Given the description of an element on the screen output the (x, y) to click on. 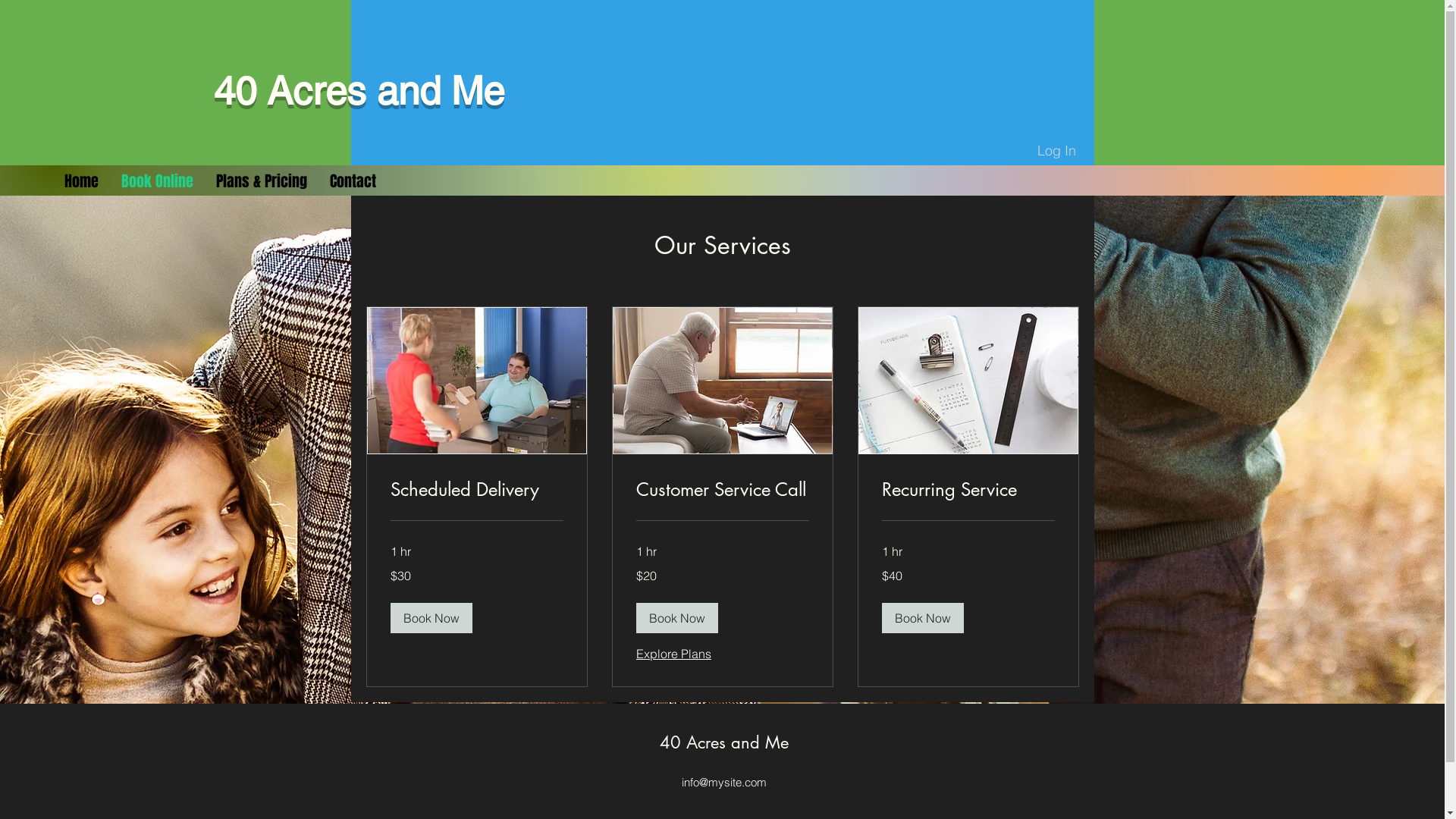
Scheduled Delivery Element type: text (475, 489)
Plans & Pricing Element type: text (261, 180)
Book Now Element type: text (430, 617)
Customer Service Call Element type: text (721, 489)
Contact Element type: text (352, 180)
Explore Plans Element type: text (672, 653)
Recurring Service Element type: text (967, 489)
Book Now Element type: text (922, 617)
Lunch Delivery Element type: hover (476, 380)
Book Online Element type: text (156, 180)
Log In Element type: text (1056, 150)
Bullet Journal Element type: hover (967, 380)
Video Consultation Element type: hover (721, 380)
Home Element type: text (81, 180)
info@mysite.com Element type: text (722, 782)
Book Now Element type: text (676, 617)
